Given the description of an element on the screen output the (x, y) to click on. 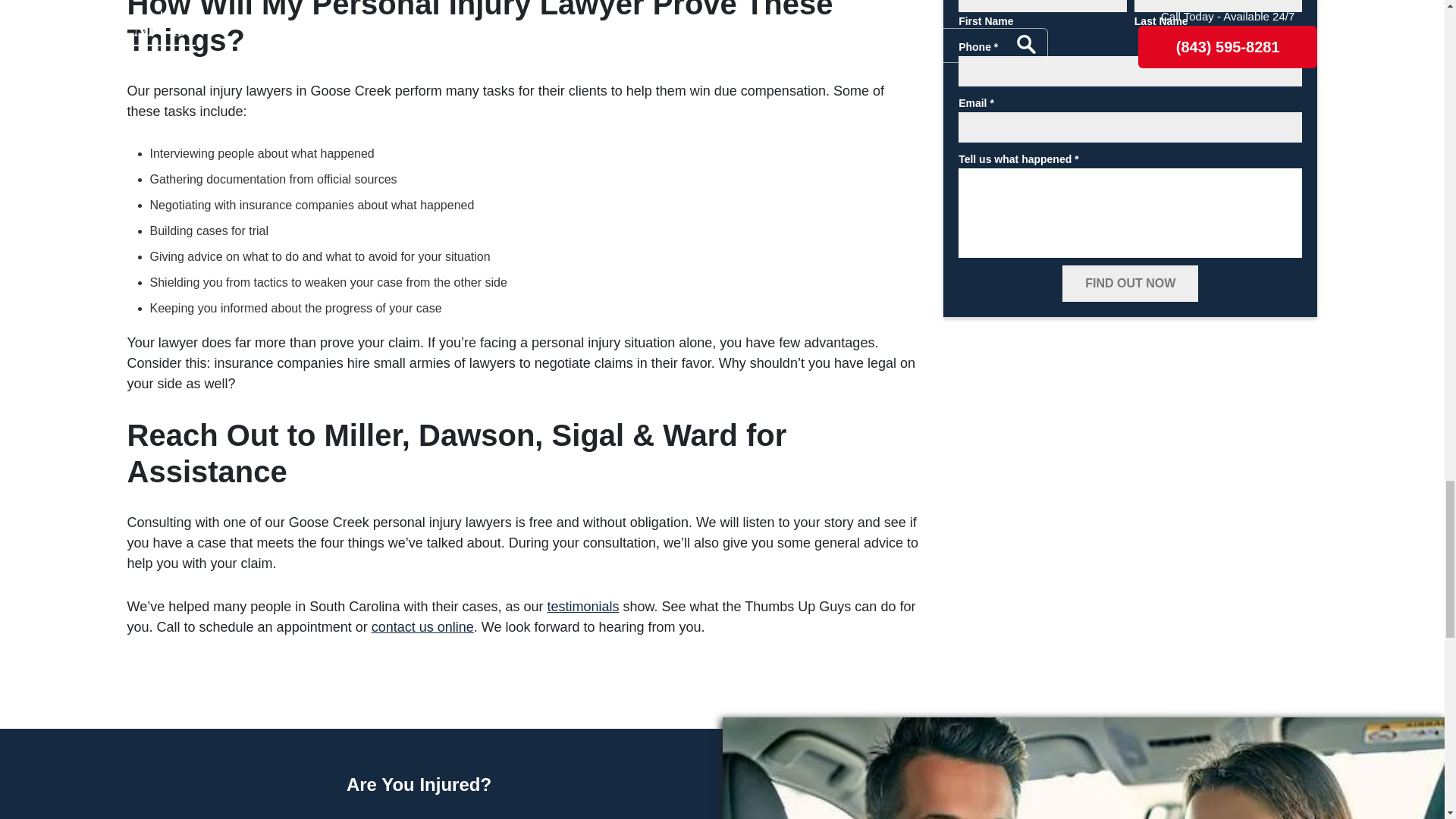
Find Out Now (1130, 283)
